Given the description of an element on the screen output the (x, y) to click on. 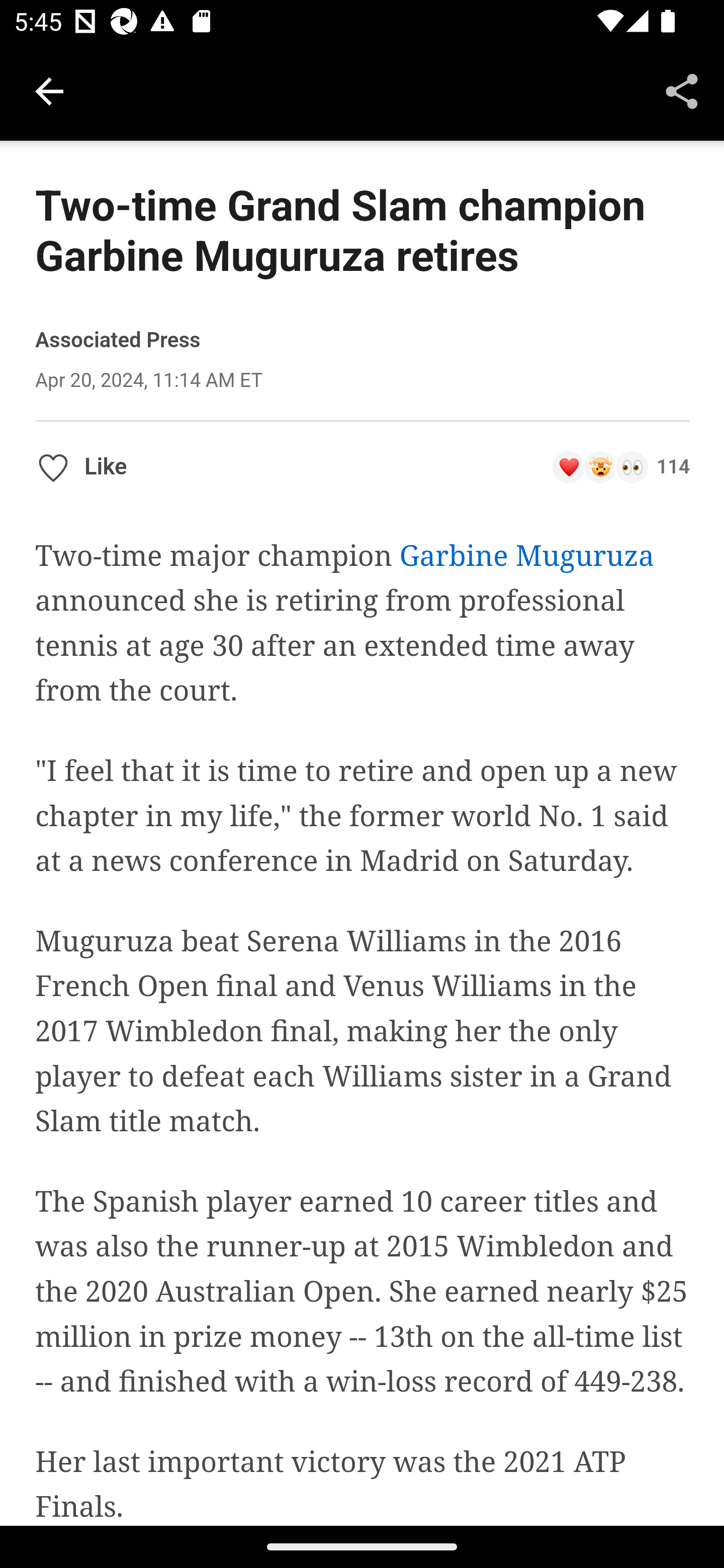
Navigate up (49, 91)
Share (681, 90)
